Given the description of an element on the screen output the (x, y) to click on. 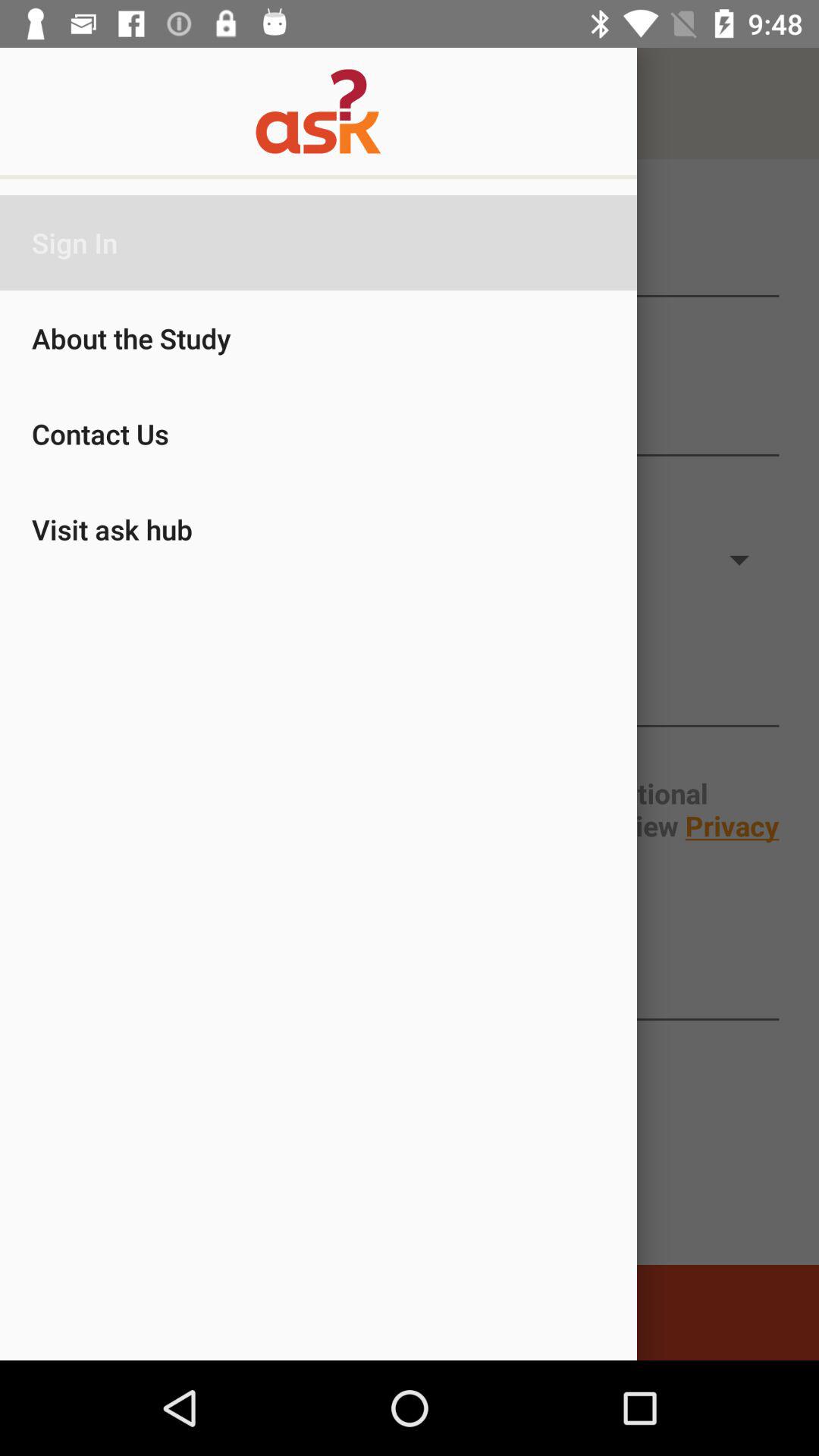
click on logo (409, 103)
click on text above visit ask hub (409, 426)
